Given the description of an element on the screen output the (x, y) to click on. 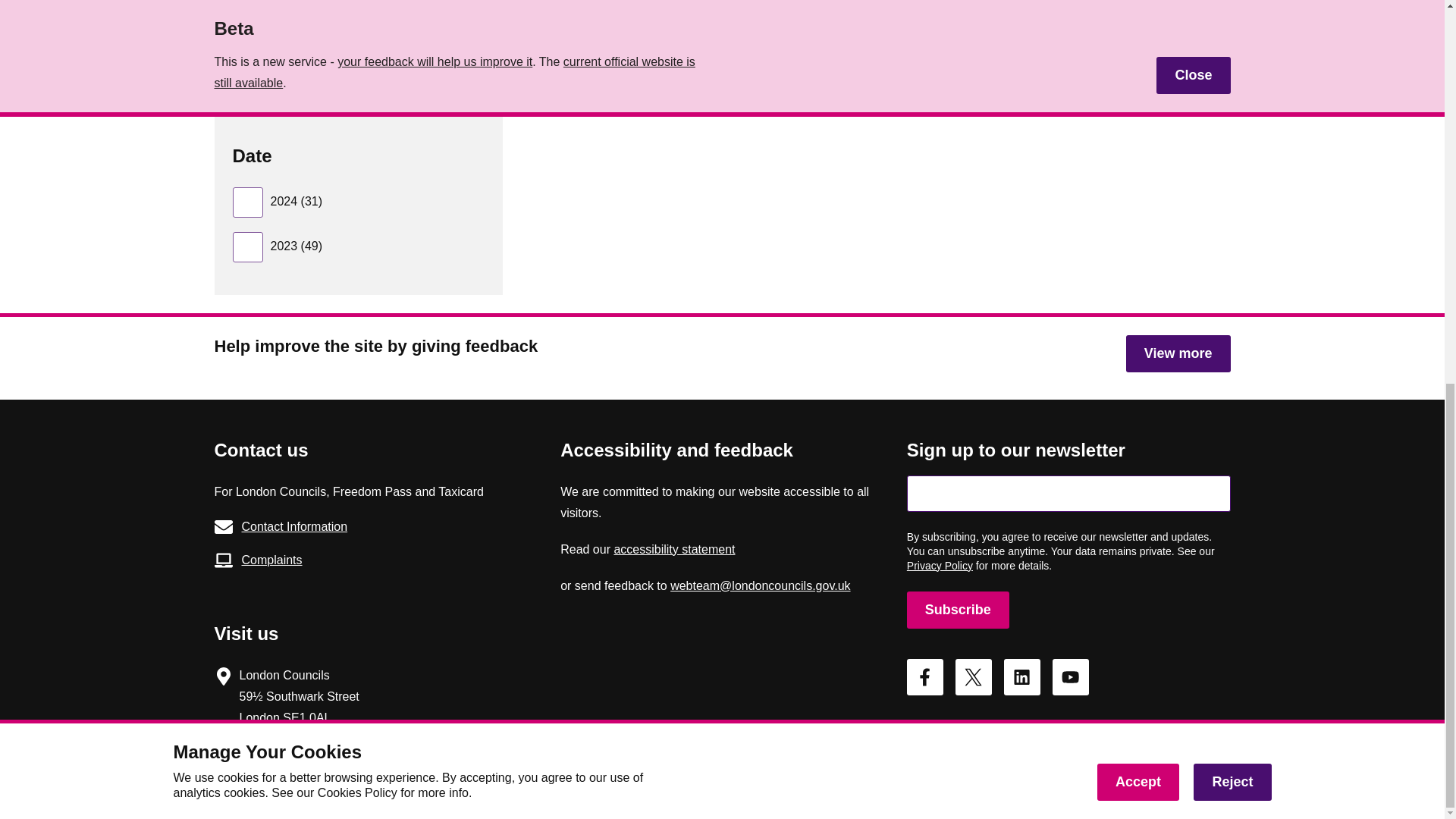
Contact Information (364, 526)
Subscribe (958, 609)
accessibility statement (673, 549)
View more (1177, 353)
Subscribe (958, 609)
Complaints (364, 560)
Privacy Policy (939, 565)
